Given the description of an element on the screen output the (x, y) to click on. 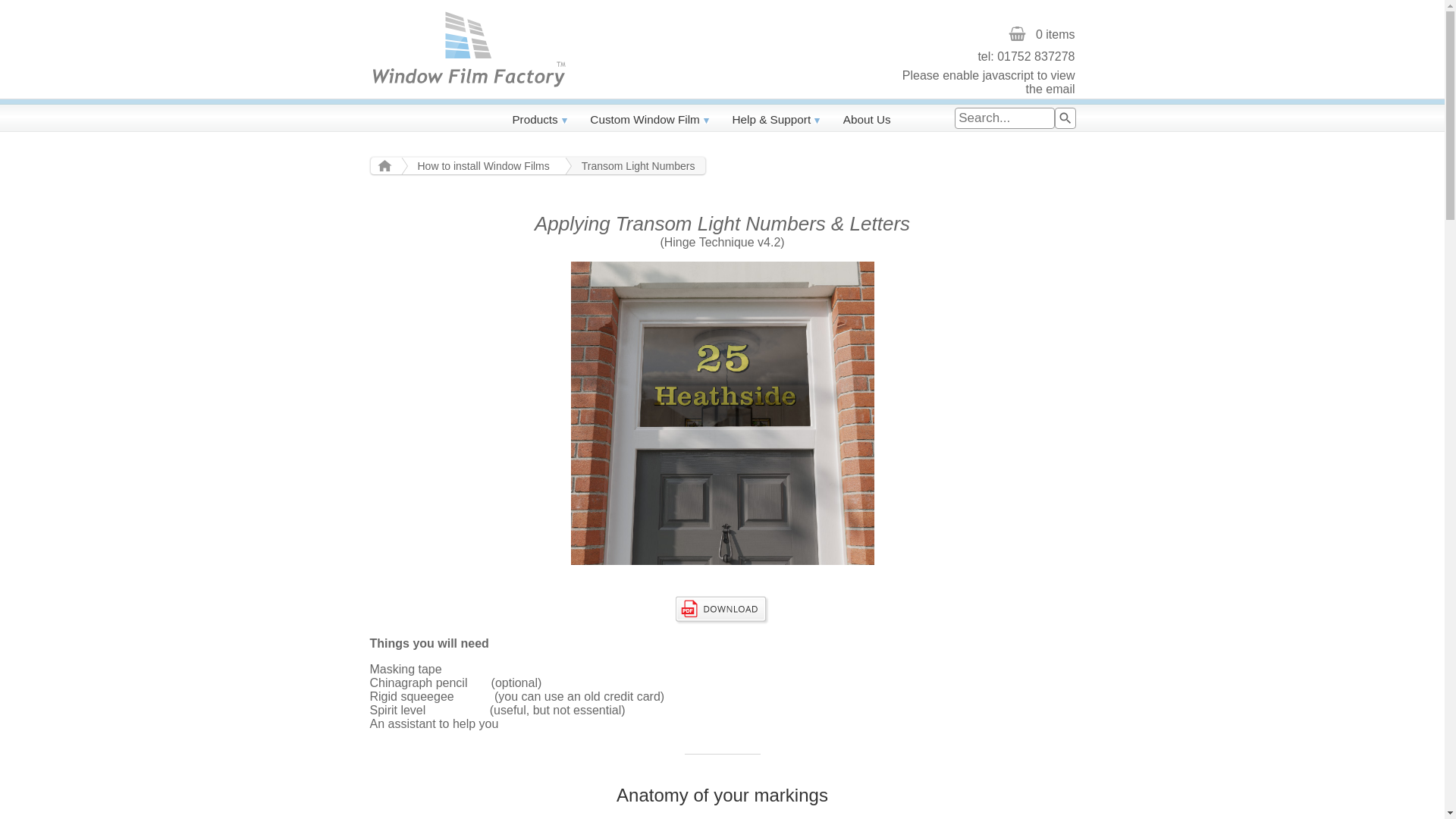
Custom Window Film (649, 119)
Please enable javascript to view the email (984, 78)
Products (539, 119)
0 items (984, 35)
Transom Light Numbers (633, 166)
About Us (866, 119)
How to install Window Films (477, 166)
